Given the description of an element on the screen output the (x, y) to click on. 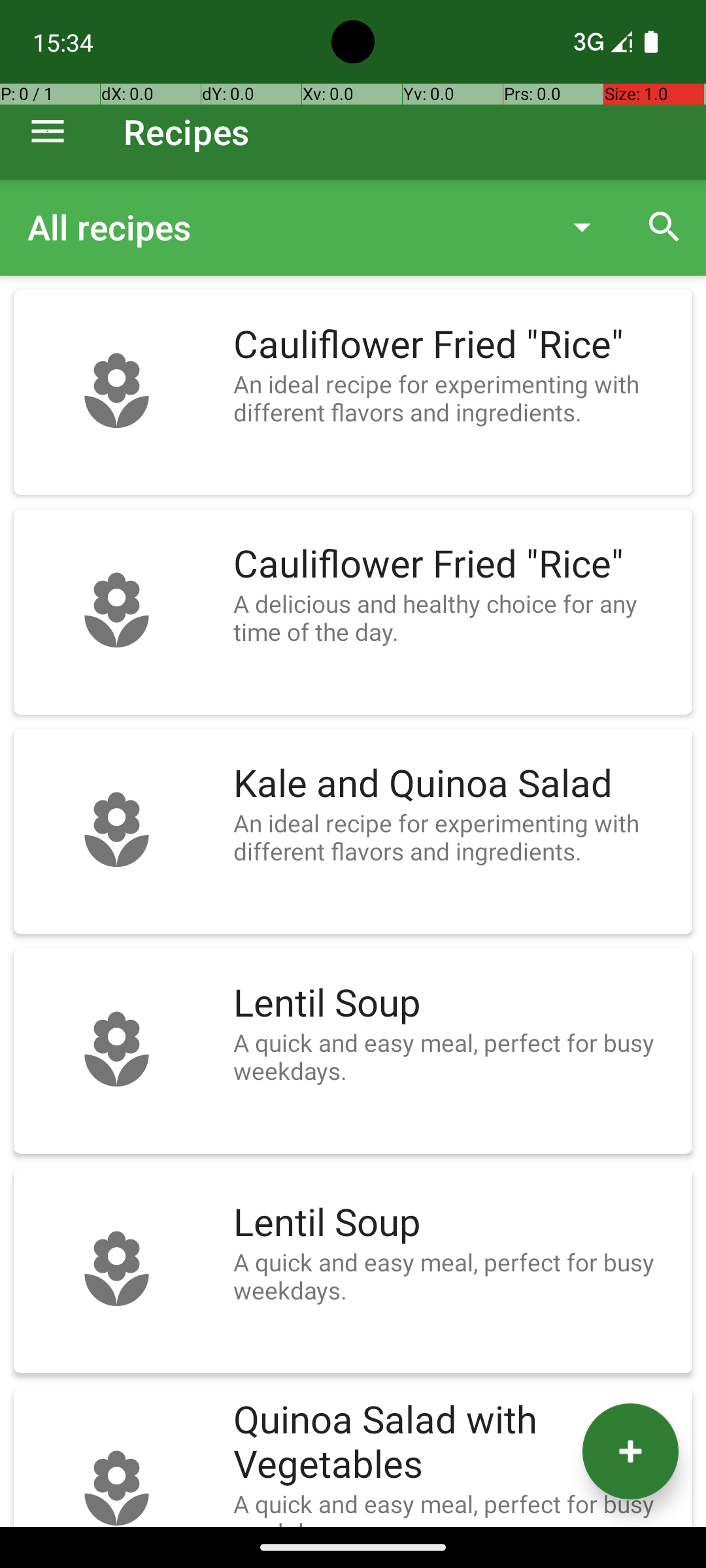
Kale and Quinoa Salad Element type: android.widget.TextView (455, 783)
Lentil Soup Element type: android.widget.TextView (455, 1003)
Quinoa Salad with Vegetables Element type: android.widget.TextView (455, 1442)
